Given the description of an element on the screen output the (x, y) to click on. 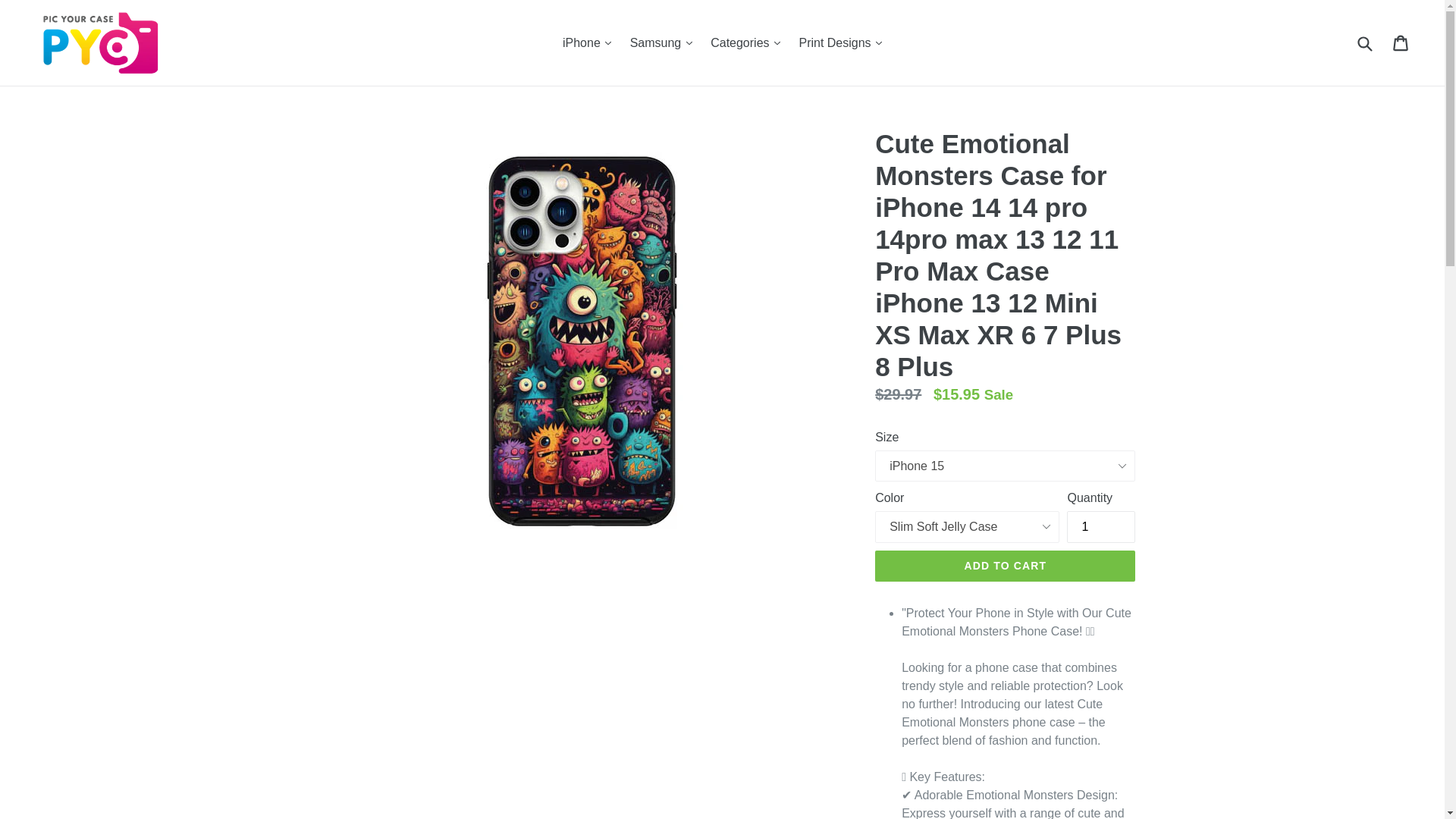
1 (1101, 526)
